Given the description of an element on the screen output the (x, y) to click on. 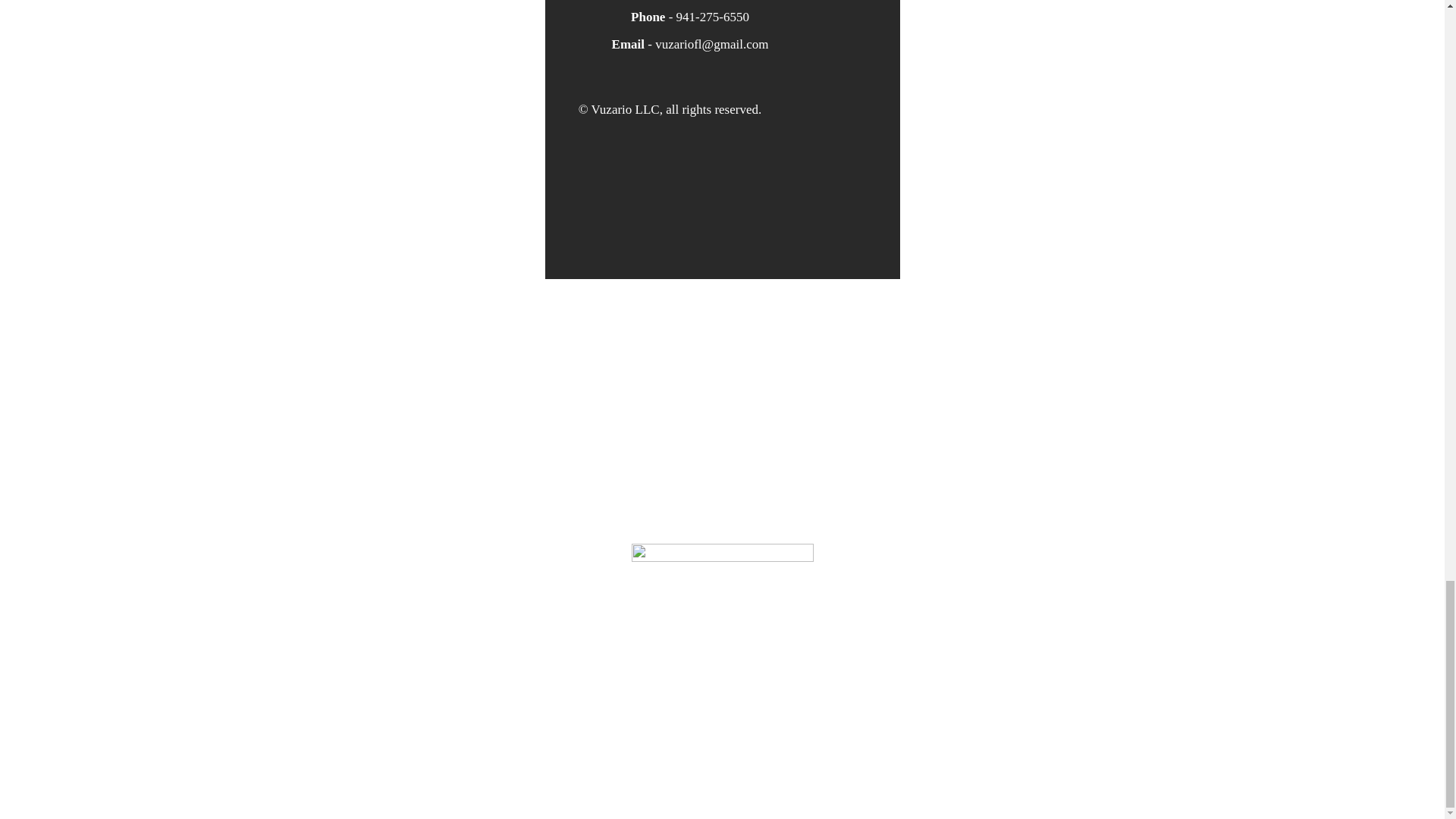
941-275-6550 (713, 16)
